Given the description of an element on the screen output the (x, y) to click on. 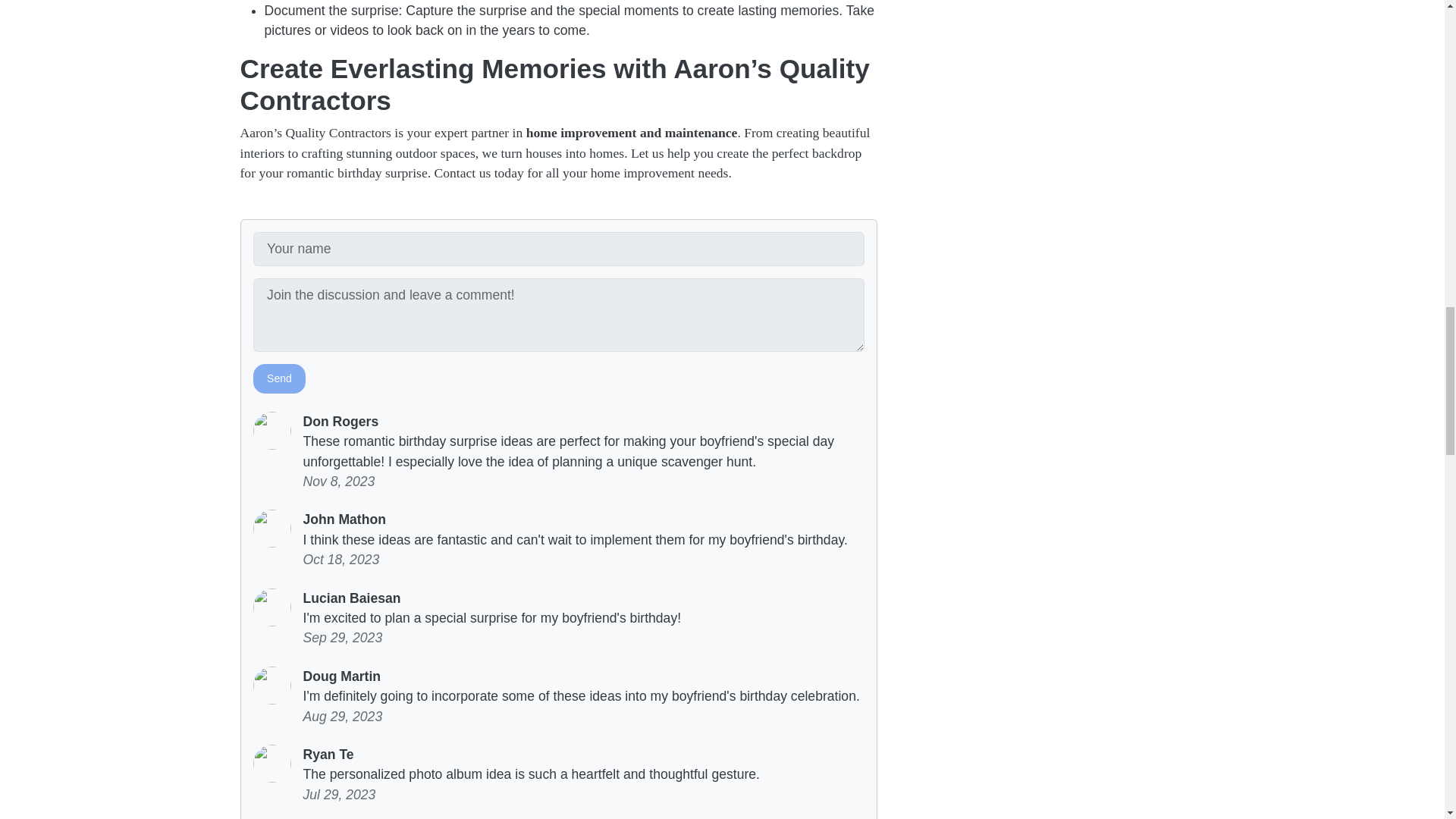
Send (279, 378)
Send (279, 378)
